Given the description of an element on the screen output the (x, y) to click on. 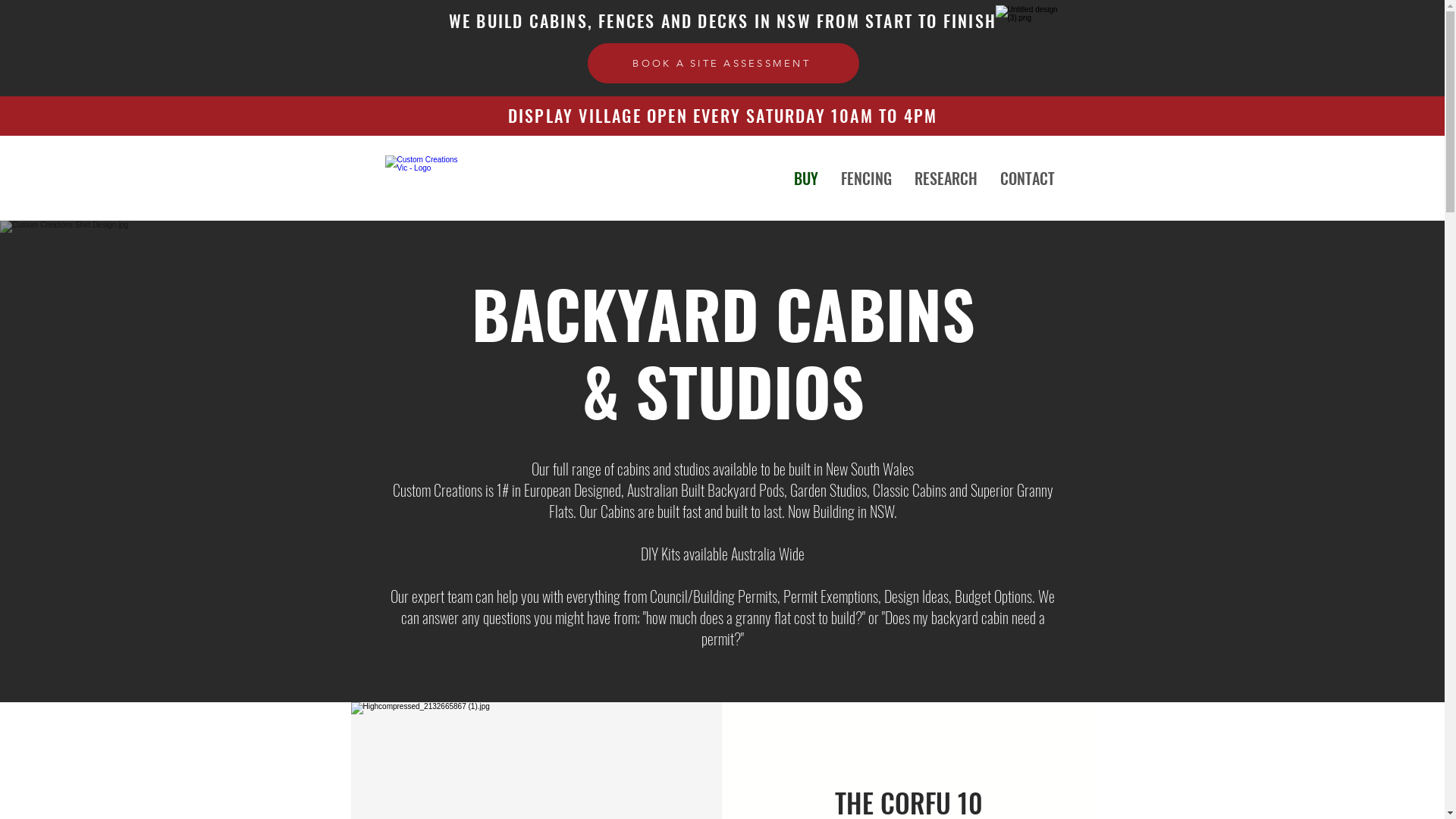
BOOK A SITE ASSESSMENT Element type: text (722, 63)
RESEARCH Element type: text (945, 177)
BUY Element type: text (805, 177)
FENCING Element type: text (866, 177)
CONTACT Element type: text (1027, 177)
